Given the description of an element on the screen output the (x, y) to click on. 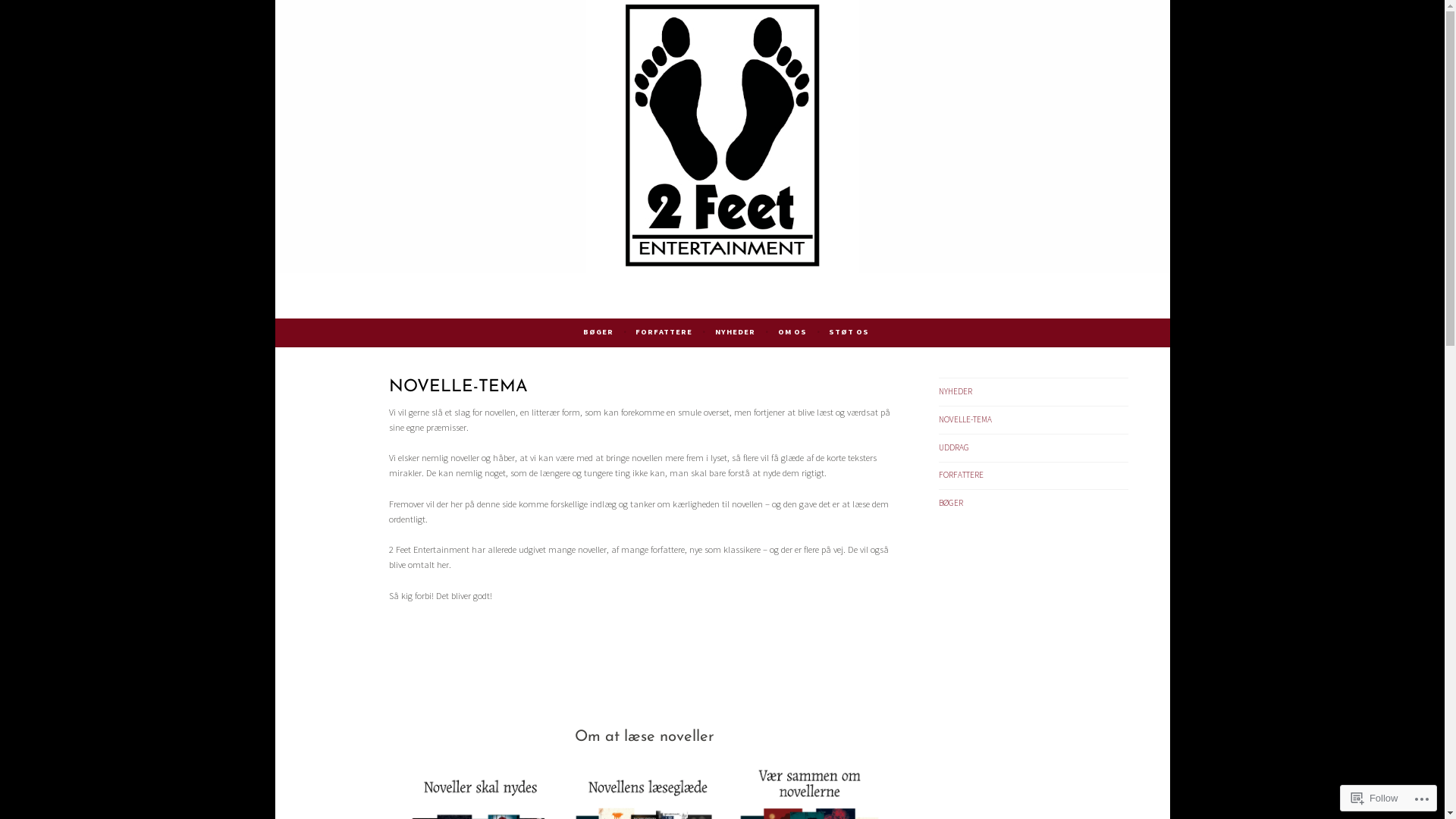
OM OS Element type: text (792, 332)
FORFATTERE Element type: text (663, 332)
UDDRAG Element type: text (953, 447)
2 Feet Entertainment Element type: text (390, 303)
FORFATTERE Element type: text (960, 474)
NYHEDER Element type: text (955, 390)
Follow Element type: text (1374, 797)
NOVELLE-TEMA Element type: text (964, 419)
NYHEDER Element type: text (735, 332)
